Given the description of an element on the screen output the (x, y) to click on. 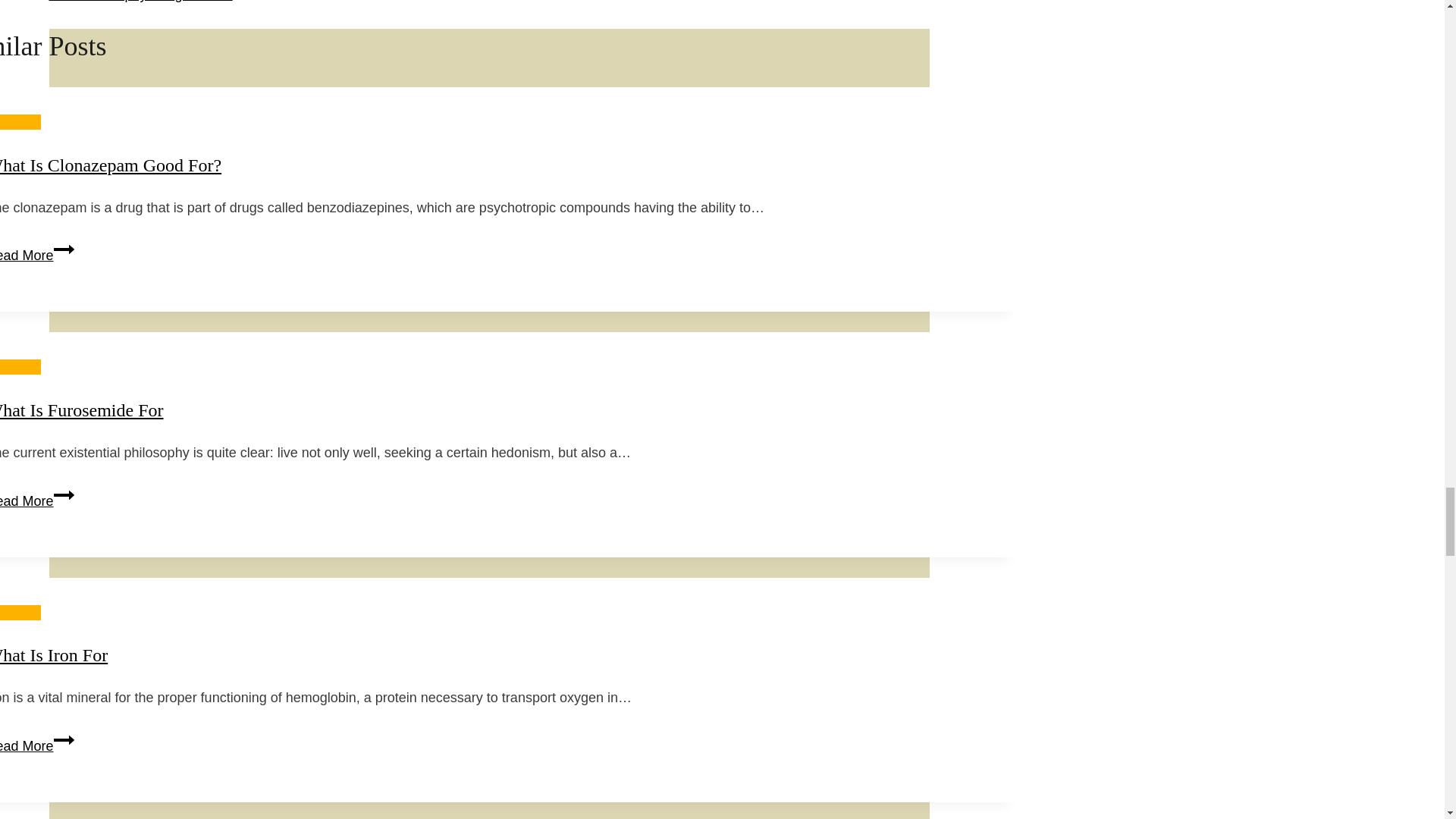
Continue (63, 249)
Continue (63, 495)
Continue (63, 740)
